Given the description of an element on the screen output the (x, y) to click on. 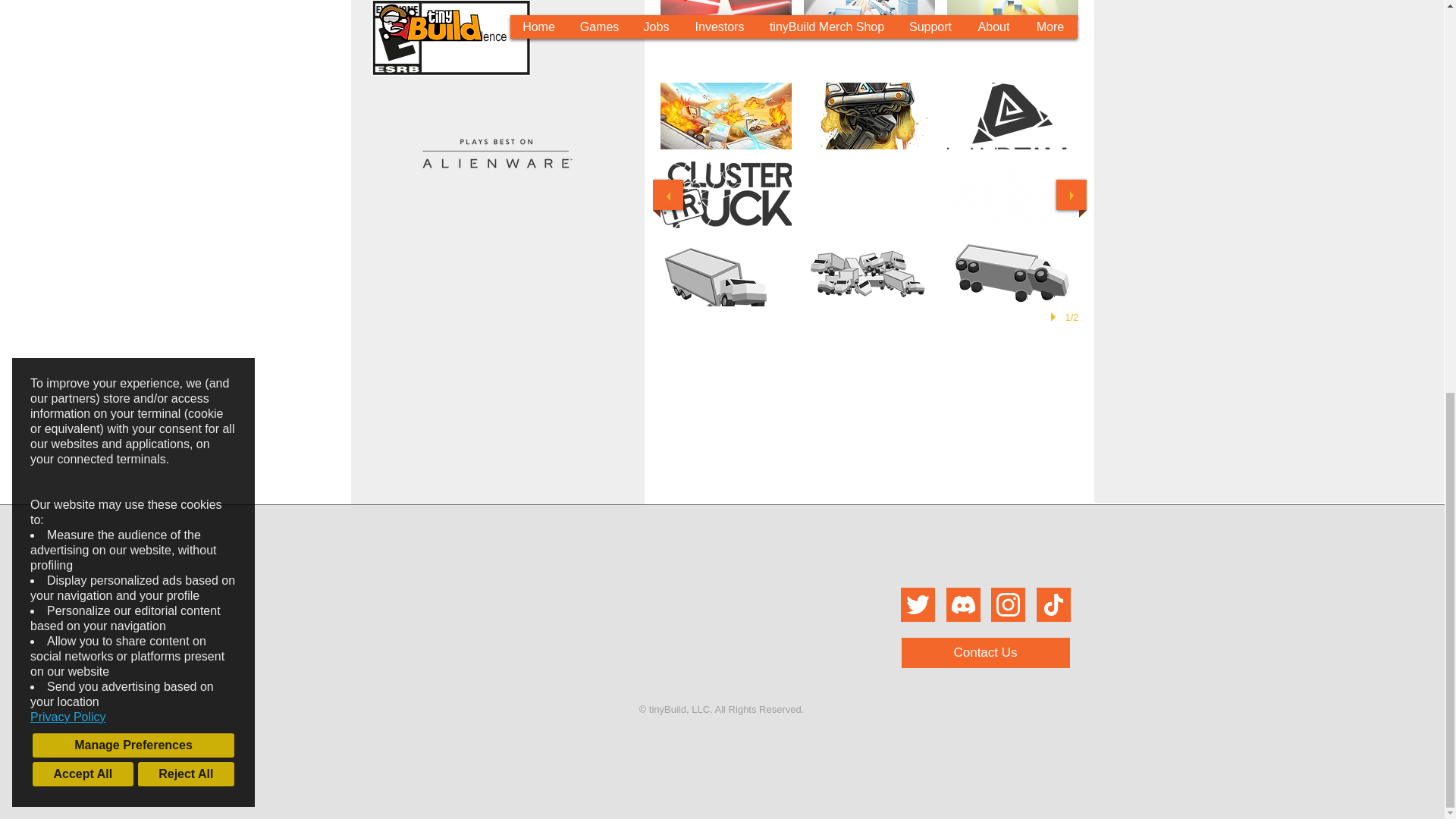
Contact Us (984, 653)
Manage Preferences (133, 2)
Accept All (82, 21)
Reject All (185, 21)
